Given the description of an element on the screen output the (x, y) to click on. 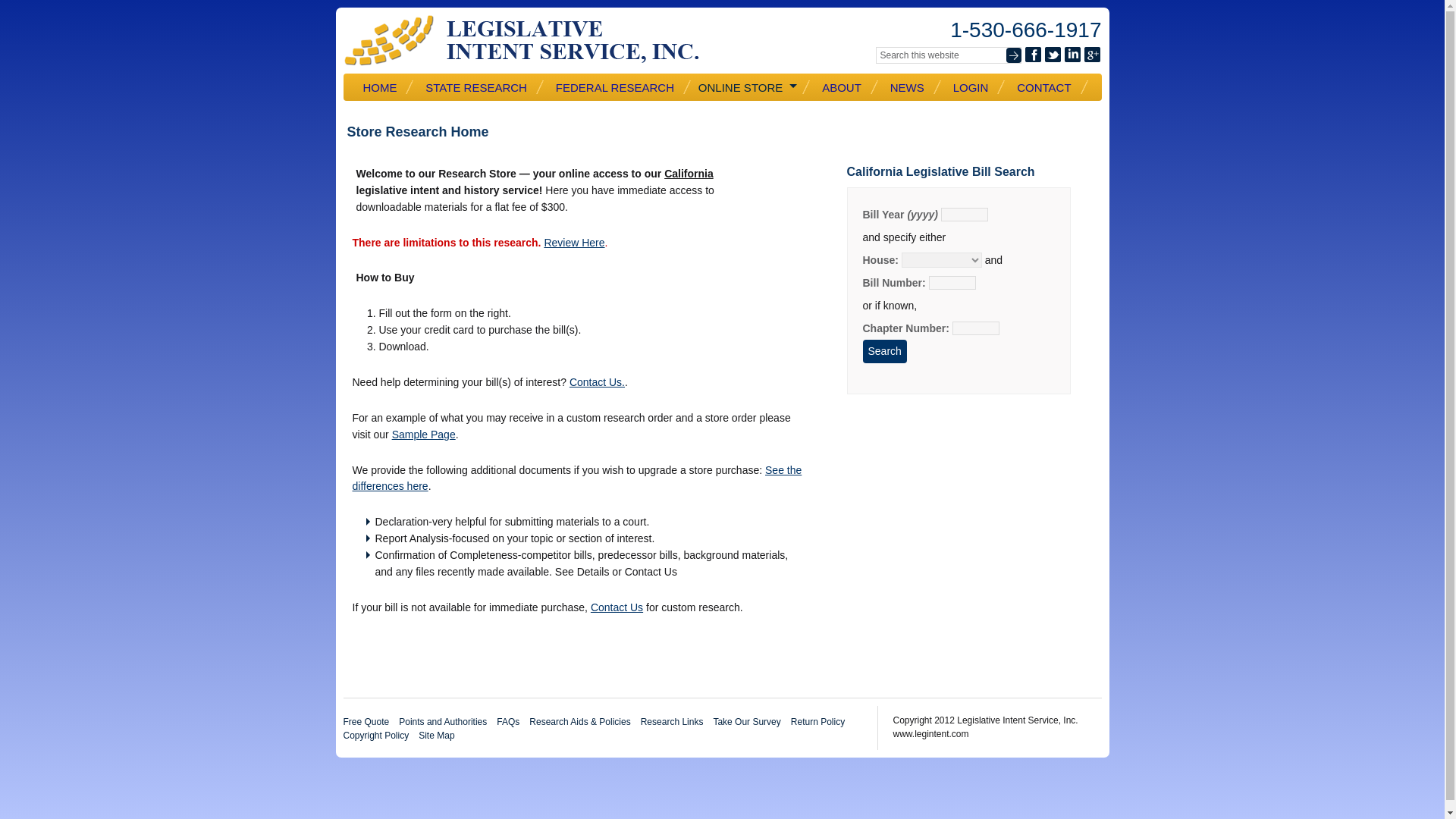
Search this website (947, 54)
ABOUT (846, 86)
FEDERAL RESEARCH (620, 86)
HOME (384, 86)
Legislative Intent Service, Inc. (532, 40)
Search this website (947, 54)
STATE RESEARCH (480, 86)
Search (885, 351)
Legislative Intent Service, Inc. (532, 40)
NEWS (912, 86)
